Given the description of an element on the screen output the (x, y) to click on. 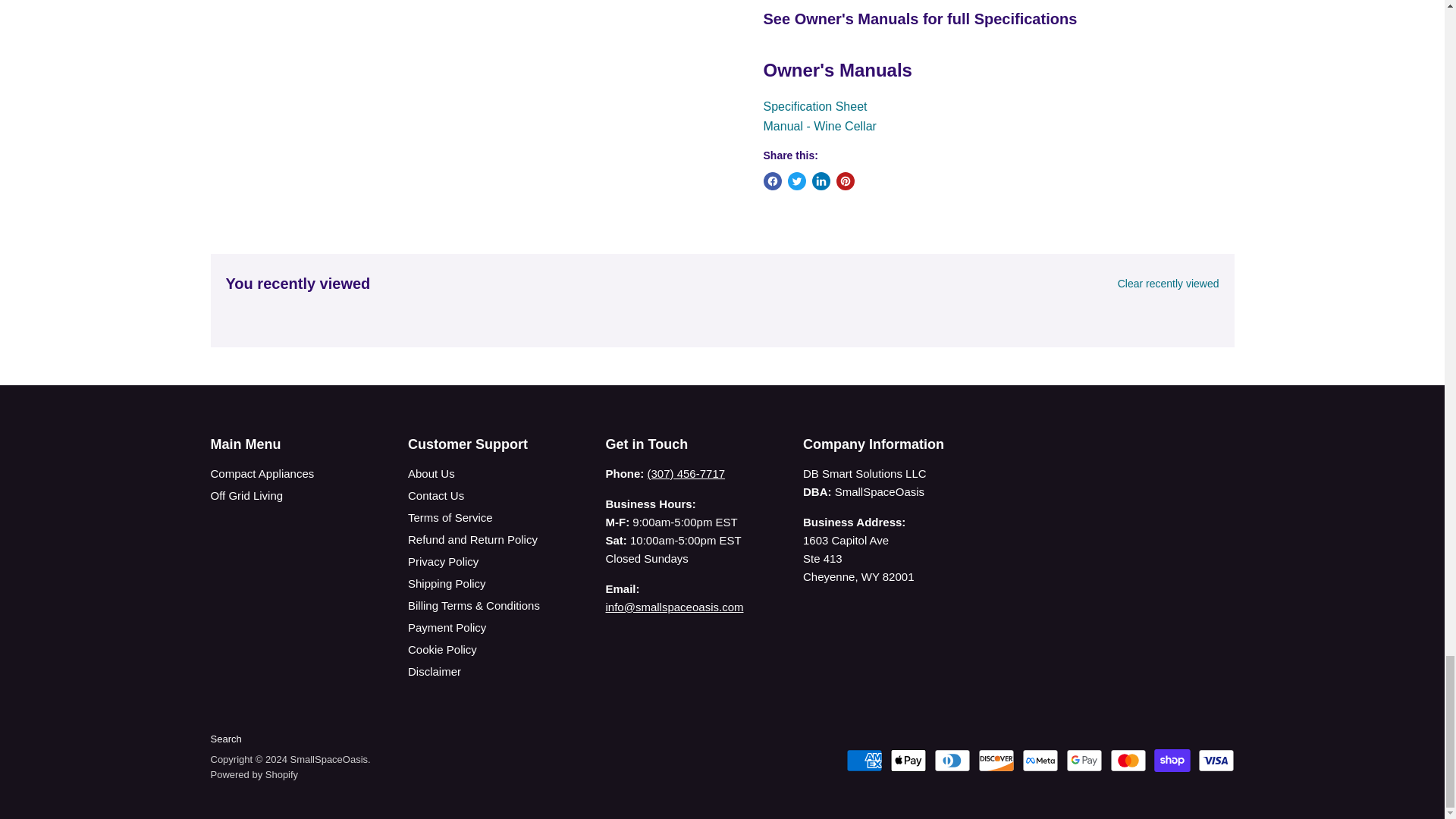
Discover (996, 760)
Apple Pay (907, 760)
Meta Pay (1040, 760)
Diners Club (952, 760)
American Express (863, 760)
